Given the description of an element on the screen output the (x, y) to click on. 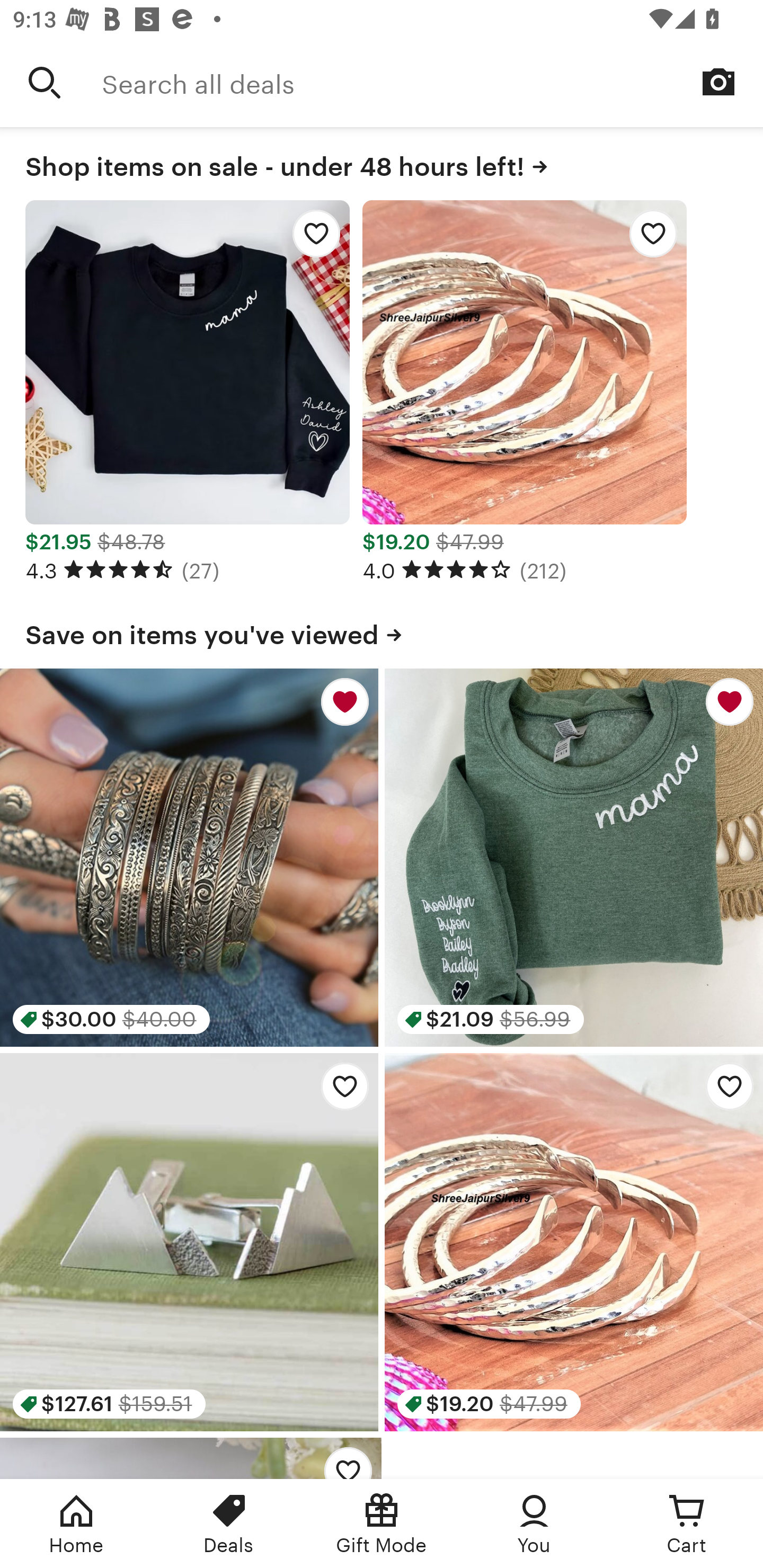
Search for anything on Etsy (44, 82)
Search by image (718, 81)
Search all deals (432, 82)
Shop items on sale - under 48 hours left! (381, 163)
Save on items you've viewed (381, 631)
Home (76, 1523)
Gift Mode (381, 1523)
You (533, 1523)
Cart (686, 1523)
